Given the description of an element on the screen output the (x, y) to click on. 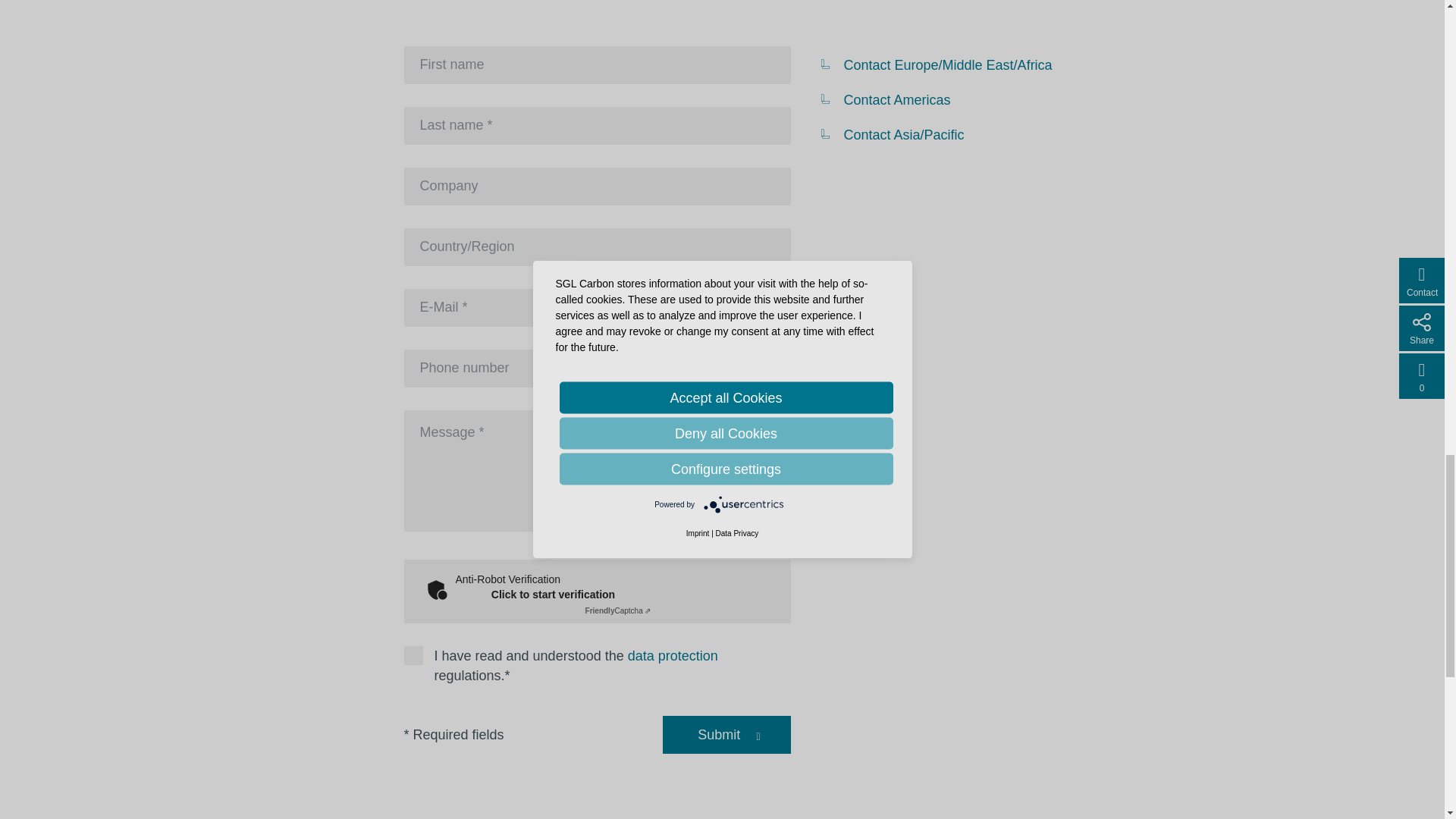
Submit (718, 734)
